Given the description of an element on the screen output the (x, y) to click on. 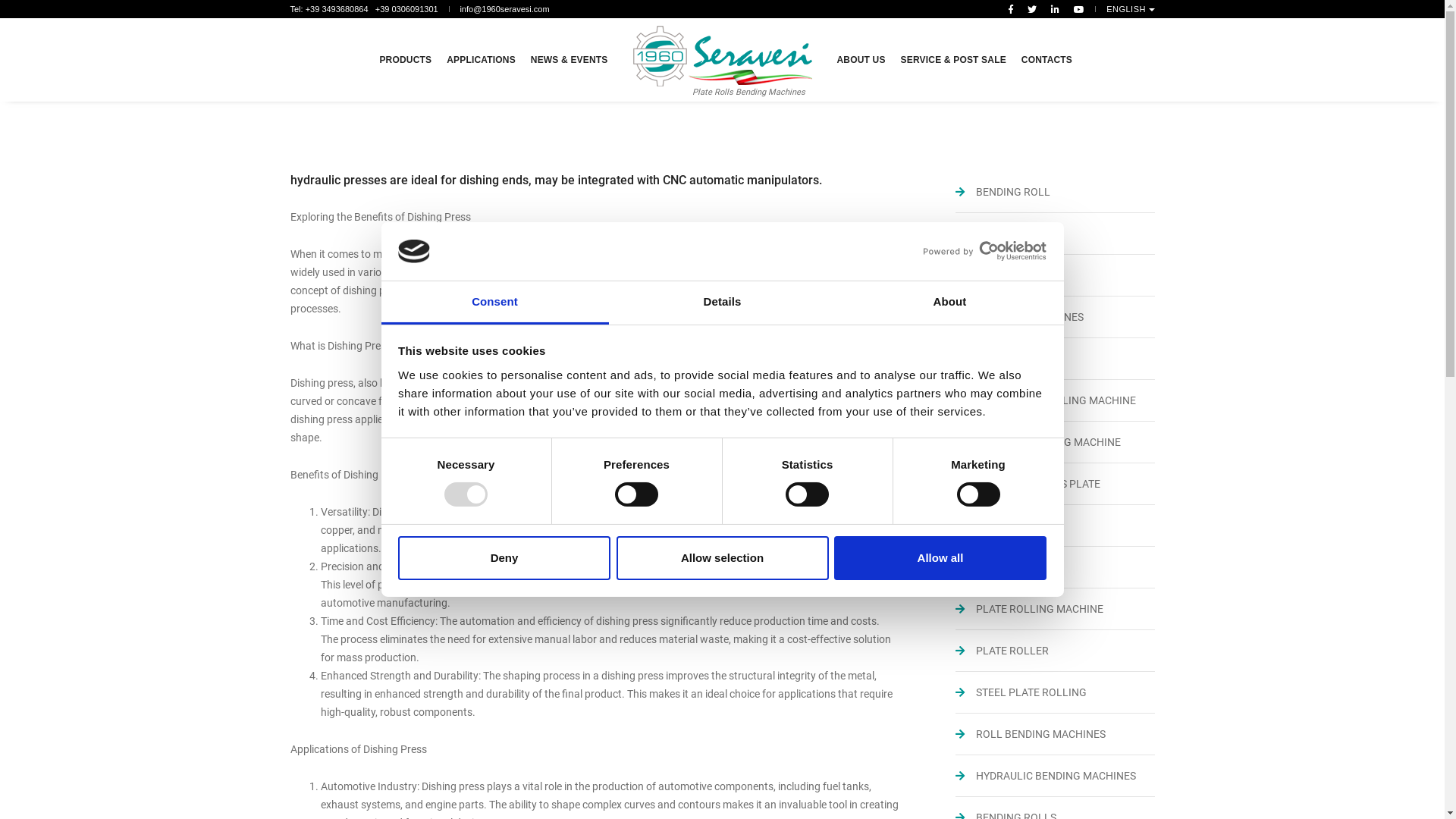
ROLL BENDING MACHINES Element type: text (1054, 733)
SERVICE & POST SALE Element type: text (953, 59)
PLATE ROLLS Element type: text (1054, 567)
DISHED HEADS Element type: text (1054, 275)
HYDRAULIC BENDING MACHINES Element type: text (1054, 775)
About Element type: text (949, 302)
FLANGING MACHINES Element type: text (1054, 316)
Tel: +39 3493680864 Element type: text (328, 8)
Details Element type: text (721, 302)
NEWS & EVENTS Element type: text (569, 59)
ABOUT US Element type: text (861, 59)
Allow all Element type: text (940, 558)
CONTACTS Element type: text (1046, 59)
HYDRAULIC PRESS PLATE Element type: text (1054, 483)
   +39 0306091301 Element type: text (403, 8)
Consent Element type: text (494, 302)
STEEL PLATE ROLLING MACHINE Element type: text (1054, 400)
Linked In Element type: hover (1054, 8)
info@1960seravesi.com Element type: text (504, 8)
DISHING PRESS Element type: text (1054, 358)
Deny Element type: text (504, 558)
ROLL BENDER Element type: text (1054, 525)
BENDING ROLL Element type: text (1054, 191)
Youtube Element type: hover (1075, 8)
PLATE ROLLING MACHINE Element type: text (1054, 608)
Plate Rolls Bending Machines Element type: text (721, 63)
STEEL PLATE ROLLING Element type: text (1054, 692)
dishing press Element type: text (764, 253)
Facebook Element type: hover (1010, 8)
HEAD FORMING Element type: text (1054, 233)
PRODUCTS Element type: text (405, 59)
APPLICATIONS Element type: text (480, 59)
ENGLISH Element type: text (1130, 8)
3 ROLLER BENDING MACHINE Element type: text (1054, 442)
PLATE ROLLER Element type: text (1054, 650)
Twitter Element type: hover (1031, 8)
Allow selection Element type: text (721, 558)
